Given the description of an element on the screen output the (x, y) to click on. 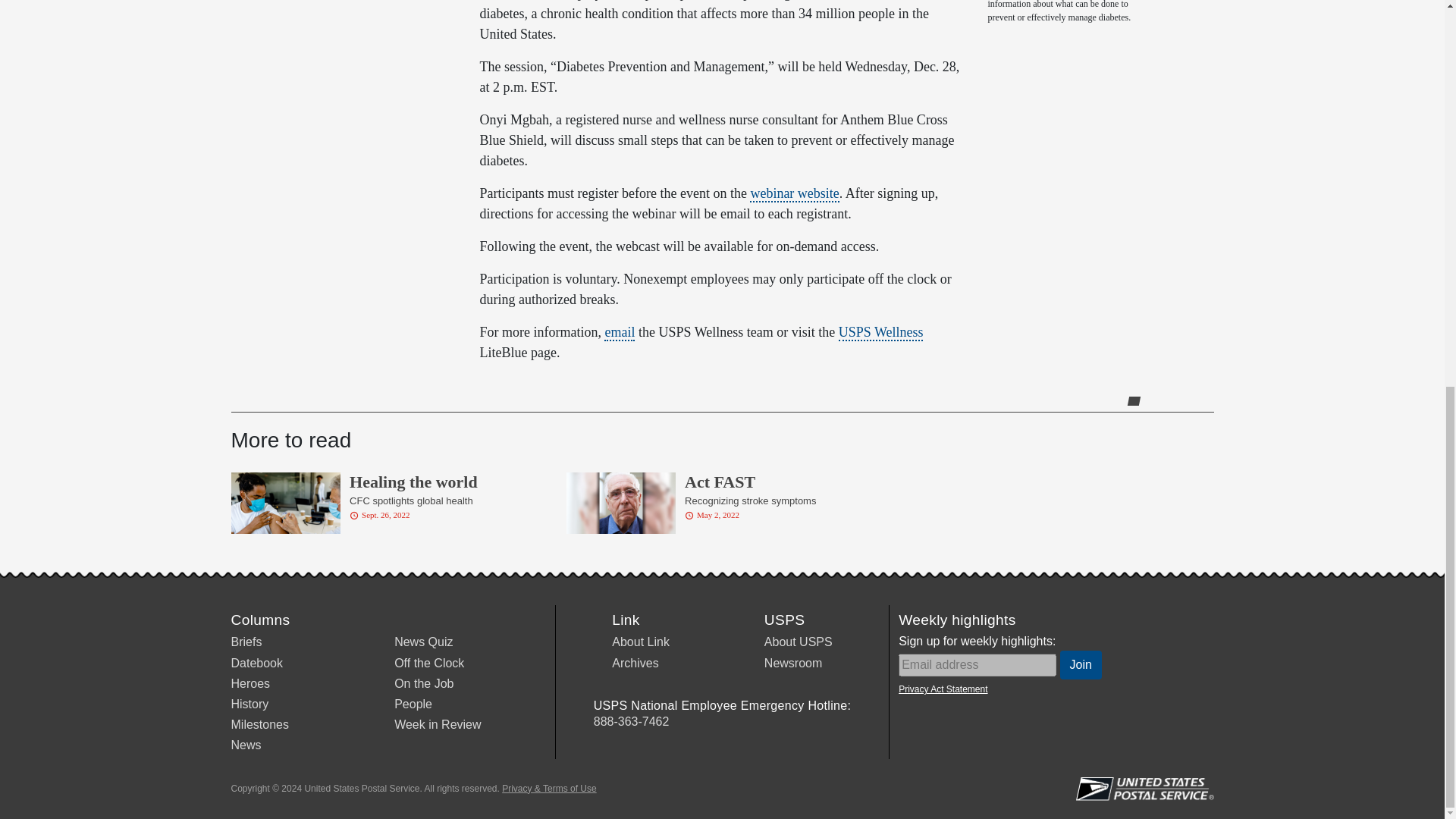
About Link (640, 641)
Datebook (721, 499)
Heroes (256, 662)
Off the Clock (249, 683)
On the Job (429, 662)
USPS Wellness (423, 683)
People (880, 332)
Join (413, 703)
